Given the description of an element on the screen output the (x, y) to click on. 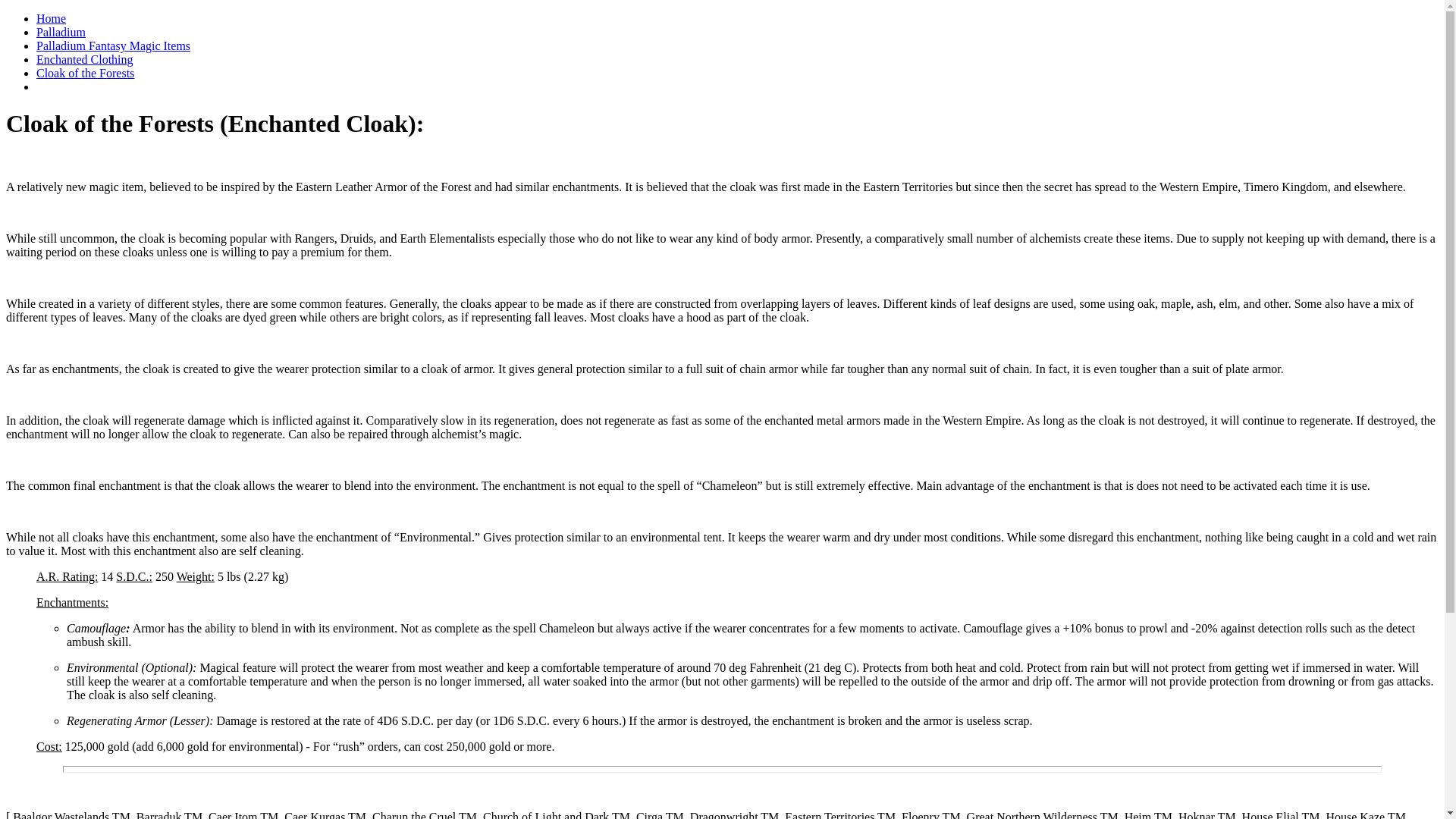
Palladium (60, 31)
Palladium Fantasy Magic Items (113, 45)
Cloak of the Forests (84, 72)
Enchanted Clothing (84, 59)
Home (50, 18)
